Given the description of an element on the screen output the (x, y) to click on. 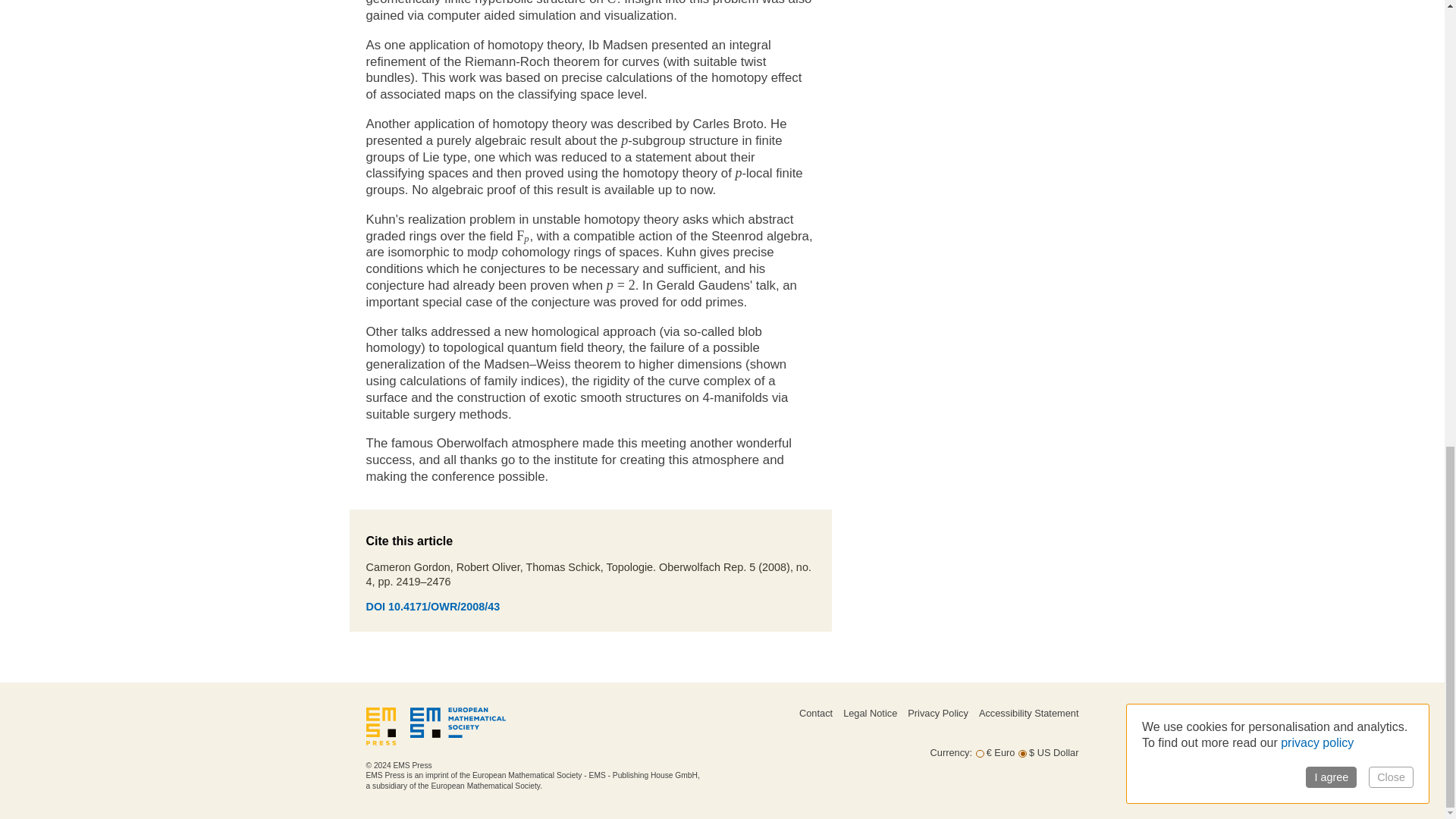
Legal Notice (869, 713)
Contact (815, 713)
Privacy Policy (937, 713)
Accessibility Statement (1028, 713)
EUR (979, 754)
Footer Navigation (889, 727)
USD (1021, 754)
